Given the description of an element on the screen output the (x, y) to click on. 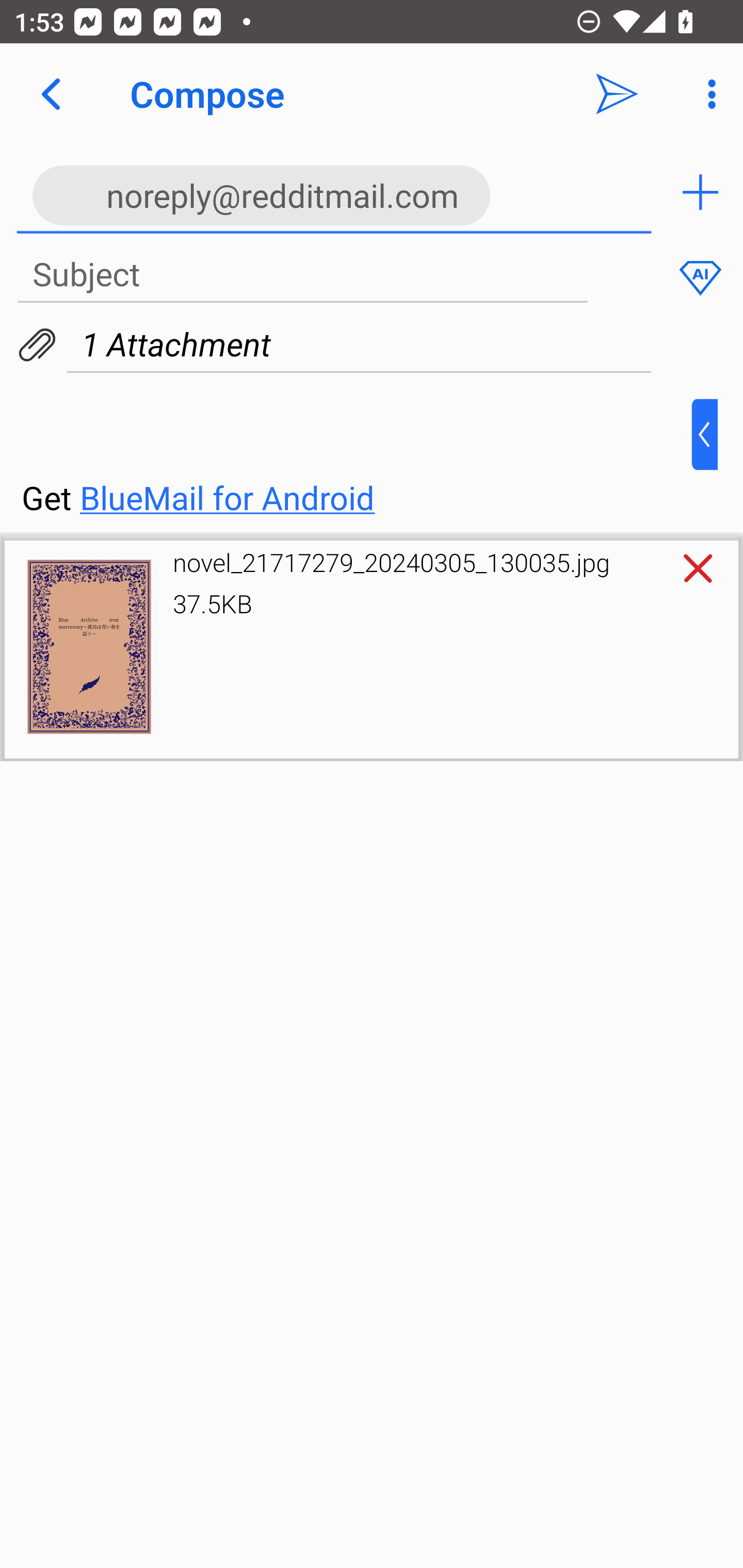
Navigate up (50, 93)
Send (616, 93)
More Options (706, 93)
<noreply@redditmail.com>,  (334, 191)
Add recipient (To) (699, 191)
Subject (302, 274)
1 Attachment (371, 344)
1 Attachment (358, 344)


⁣Get BlueMail for Android ​ (355, 459)
Tap to download (88, 646)
novel_21717279_20240305_130035.jpg (391, 561)
37.5KB (212, 603)
